Given the description of an element on the screen output the (x, y) to click on. 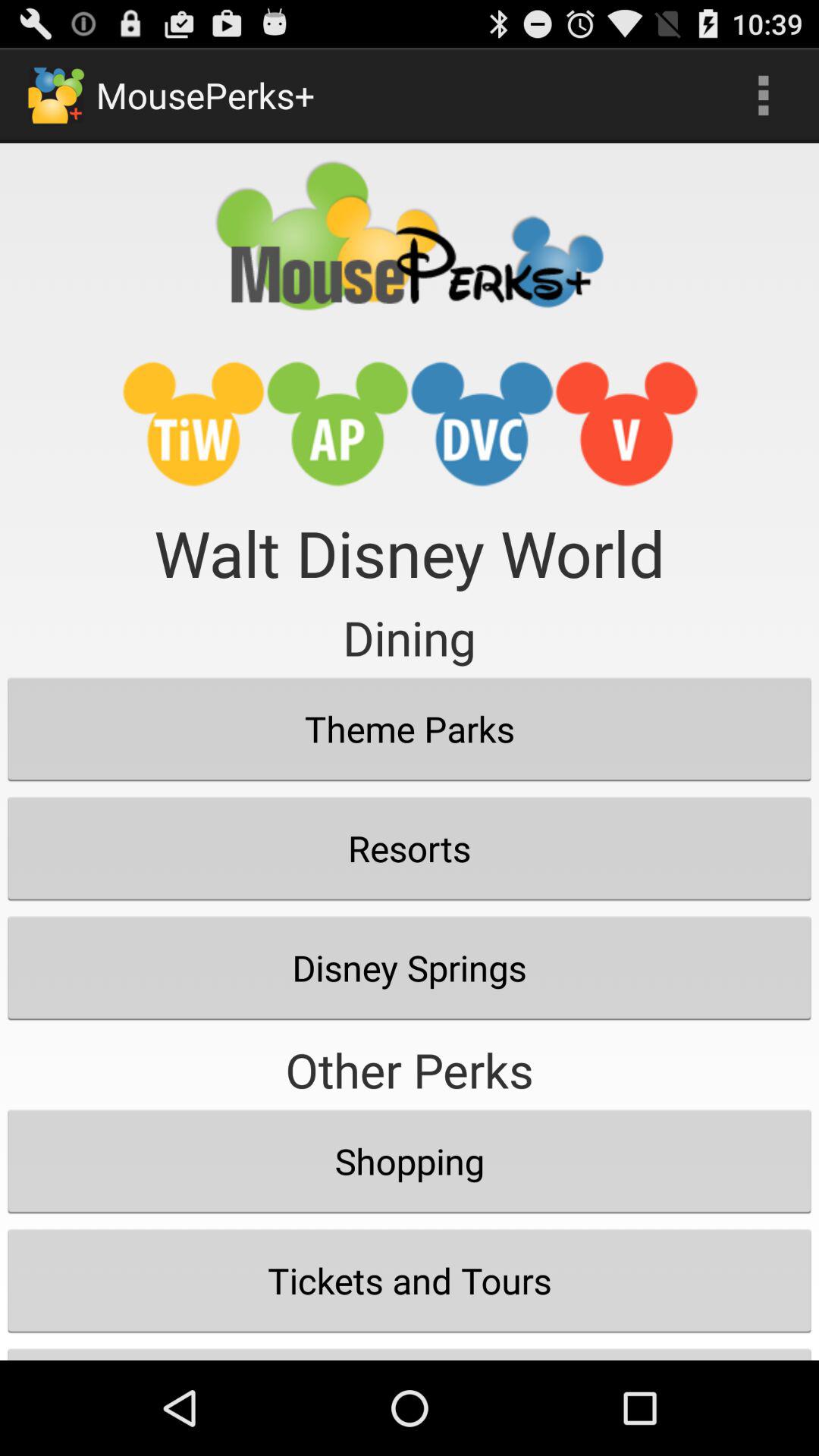
choose icon below other perks (409, 1161)
